Given the description of an element on the screen output the (x, y) to click on. 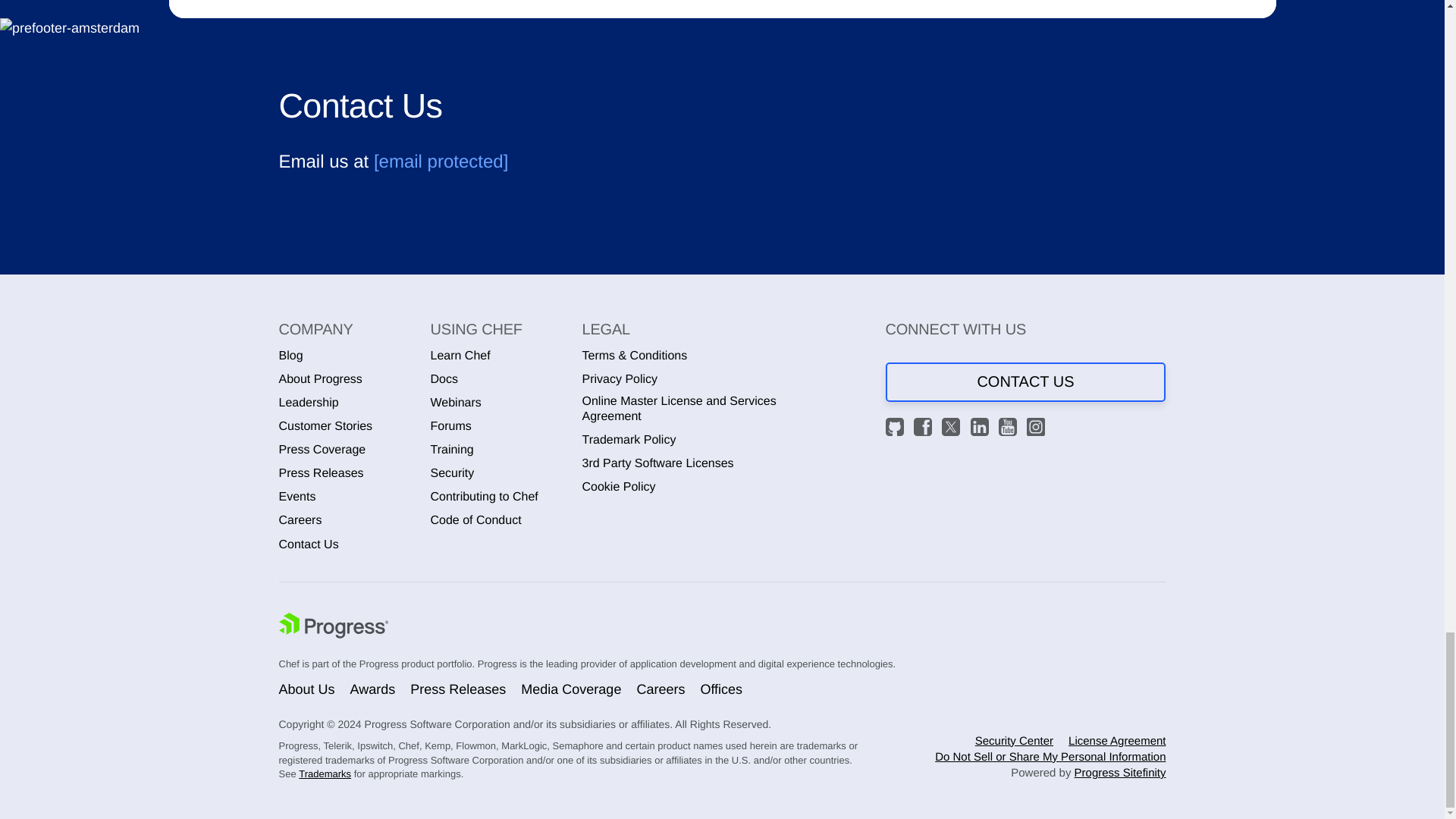
Customer Stories (325, 426)
Webinars (455, 402)
Press Releases (321, 473)
Progress-logo (333, 627)
Contact Us (309, 544)
Docs (444, 379)
Learn Chef (460, 355)
About Progress (320, 379)
Press Coverage (322, 450)
Blog (290, 355)
